Given the description of an element on the screen output the (x, y) to click on. 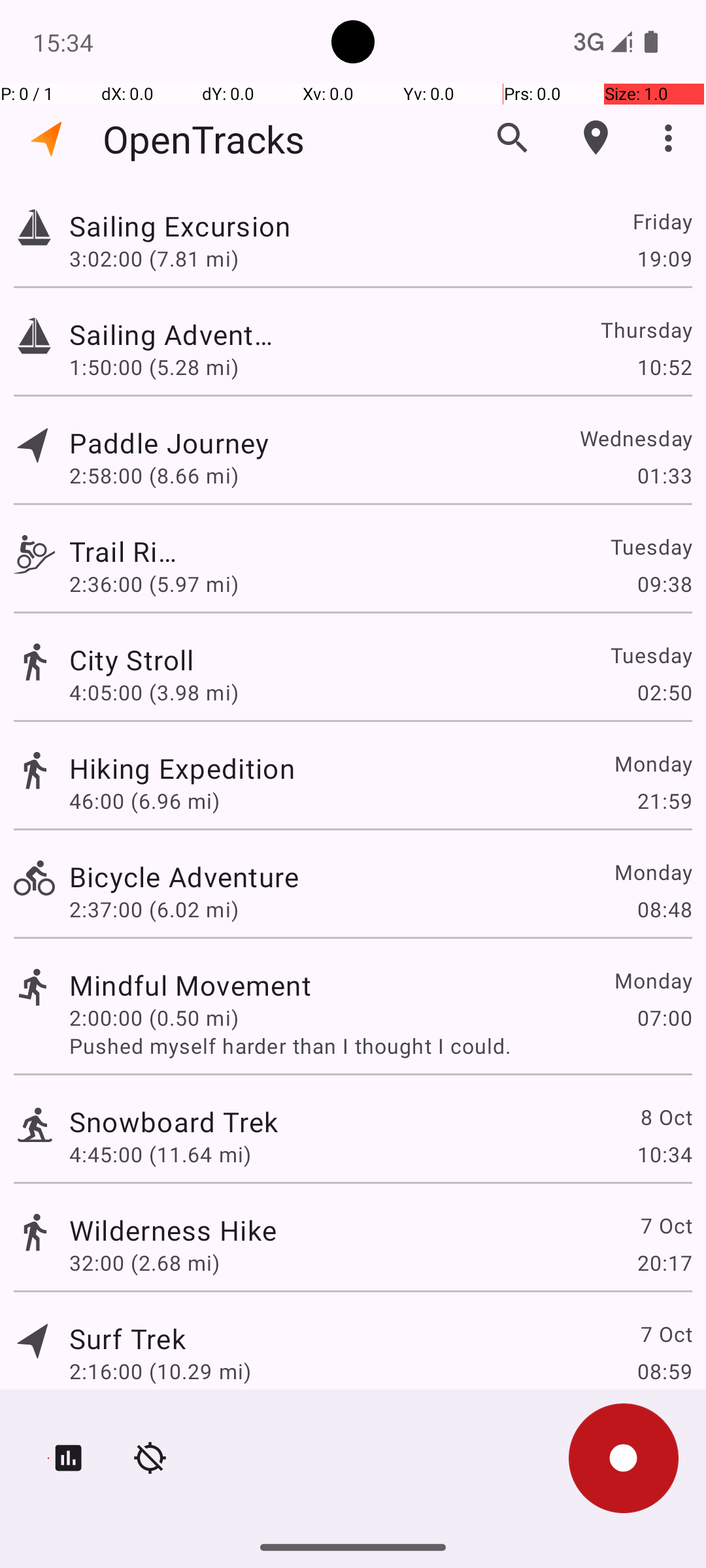
Sailing Excursion Element type: android.widget.TextView (189, 225)
3:02:00 (7.81 mi) Element type: android.widget.TextView (153, 258)
19:09 Element type: android.widget.TextView (664, 258)
Sailing Adventure Element type: android.widget.TextView (173, 333)
1:50:00 (5.28 mi) Element type: android.widget.TextView (159, 366)
10:52 Element type: android.widget.TextView (664, 366)
Paddle Journey Element type: android.widget.TextView (172, 442)
2:58:00 (8.66 mi) Element type: android.widget.TextView (153, 475)
01:33 Element type: android.widget.TextView (664, 475)
Trail Riding Element type: android.widget.TextView (127, 550)
2:36:00 (5.97 mi) Element type: android.widget.TextView (159, 583)
09:38 Element type: android.widget.TextView (664, 583)
City Stroll Element type: android.widget.TextView (193, 659)
4:05:00 (3.98 mi) Element type: android.widget.TextView (153, 692)
02:50 Element type: android.widget.TextView (664, 692)
Hiking Expedition Element type: android.widget.TextView (181, 767)
46:00 (6.96 mi) Element type: android.widget.TextView (144, 800)
21:59 Element type: android.widget.TextView (664, 800)
Bicycle Adventure Element type: android.widget.TextView (183, 876)
2:37:00 (6.02 mi) Element type: android.widget.TextView (153, 909)
08:48 Element type: android.widget.TextView (664, 909)
Mindful Movement Element type: android.widget.TextView (189, 984)
2:00:00 (0.50 mi) Element type: android.widget.TextView (153, 1017)
07:00 Element type: android.widget.TextView (664, 1017)
Pushed myself harder than I thought I could. Element type: android.widget.TextView (380, 1045)
Snowboard Trek Element type: android.widget.TextView (173, 1121)
8 Oct Element type: android.widget.TextView (665, 1116)
4:45:00 (11.64 mi) Element type: android.widget.TextView (159, 1154)
10:34 Element type: android.widget.TextView (664, 1154)
Wilderness Hike Element type: android.widget.TextView (172, 1229)
7 Oct Element type: android.widget.TextView (665, 1225)
32:00 (2.68 mi) Element type: android.widget.TextView (144, 1262)
20:17 Element type: android.widget.TextView (664, 1262)
Surf Trek Element type: android.widget.TextView (127, 1337)
2:16:00 (10.29 mi) Element type: android.widget.TextView (159, 1370)
08:59 Element type: android.widget.TextView (664, 1370)
